Given the description of an element on the screen output the (x, y) to click on. 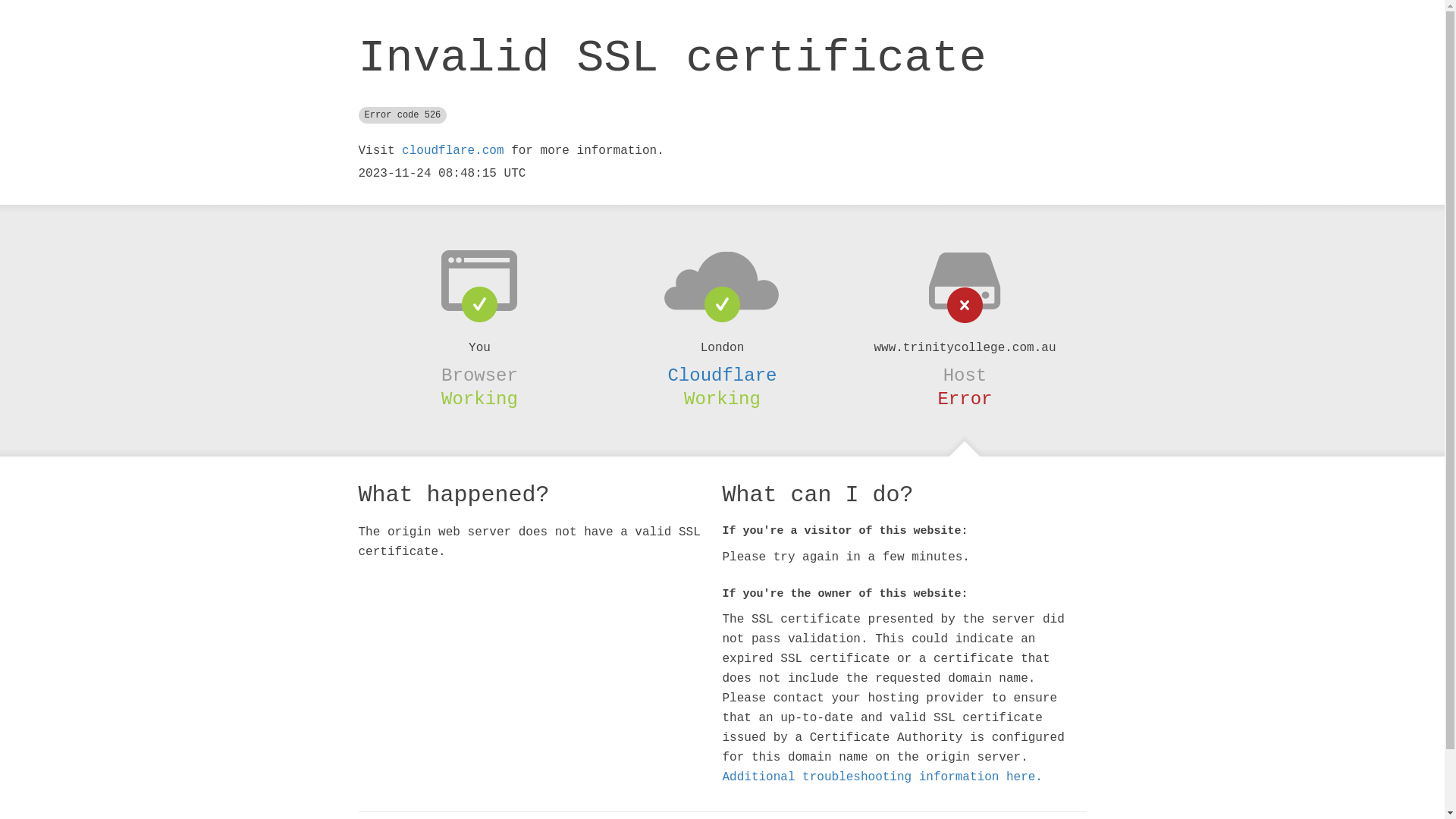
cloudflare.com Element type: text (452, 150)
Cloudflare Element type: text (721, 375)
Additional troubleshooting information here. Element type: text (881, 777)
